Given the description of an element on the screen output the (x, y) to click on. 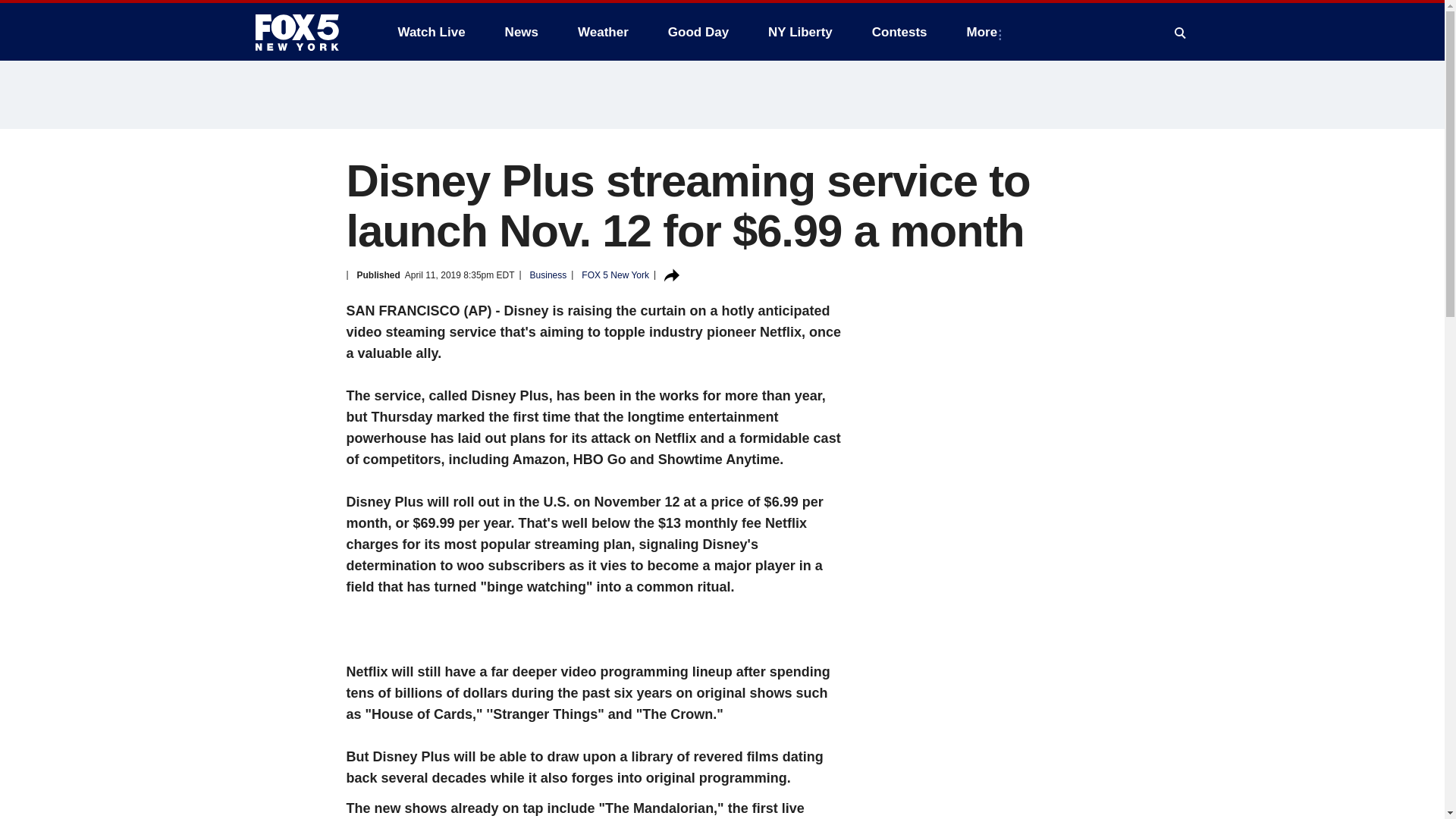
More (985, 32)
Contests (899, 32)
Weather (603, 32)
NY Liberty (799, 32)
News (521, 32)
Watch Live (431, 32)
Good Day (698, 32)
